Given the description of an element on the screen output the (x, y) to click on. 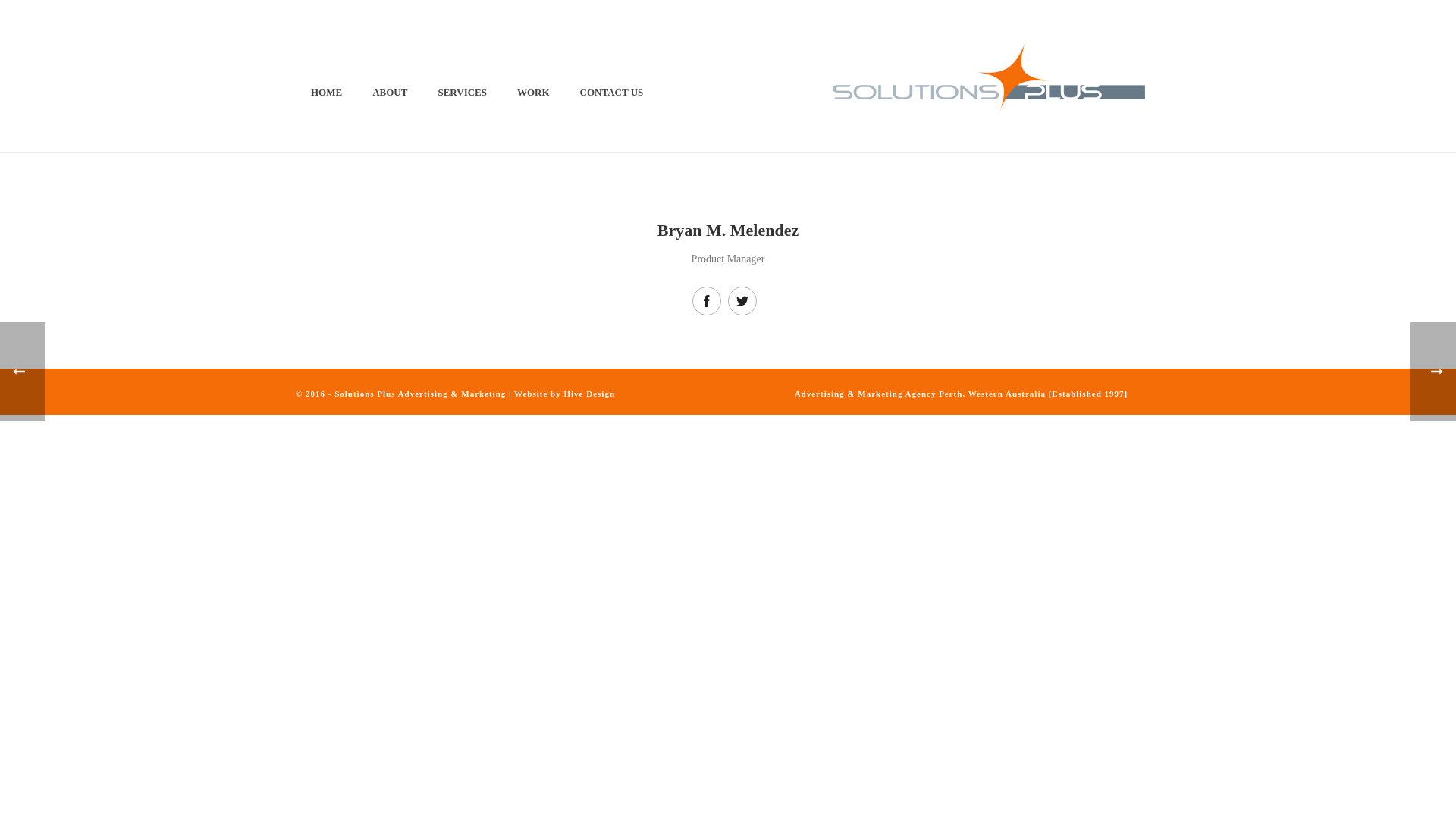
HOME Element type: text (326, 91)
Hive Design Element type: text (589, 393)
WORK Element type: text (533, 91)
SERVICES Element type: text (462, 91)
CONTACT US Element type: text (611, 91)
Bryan M. Melendez On Twitter Element type: hover (742, 300)
ABOUT Element type: text (389, 91)
Bryan M. Melendez On Facebook Element type: hover (706, 300)
Advertising and Marketing Company Element type: hover (988, 75)
